Given the description of an element on the screen output the (x, y) to click on. 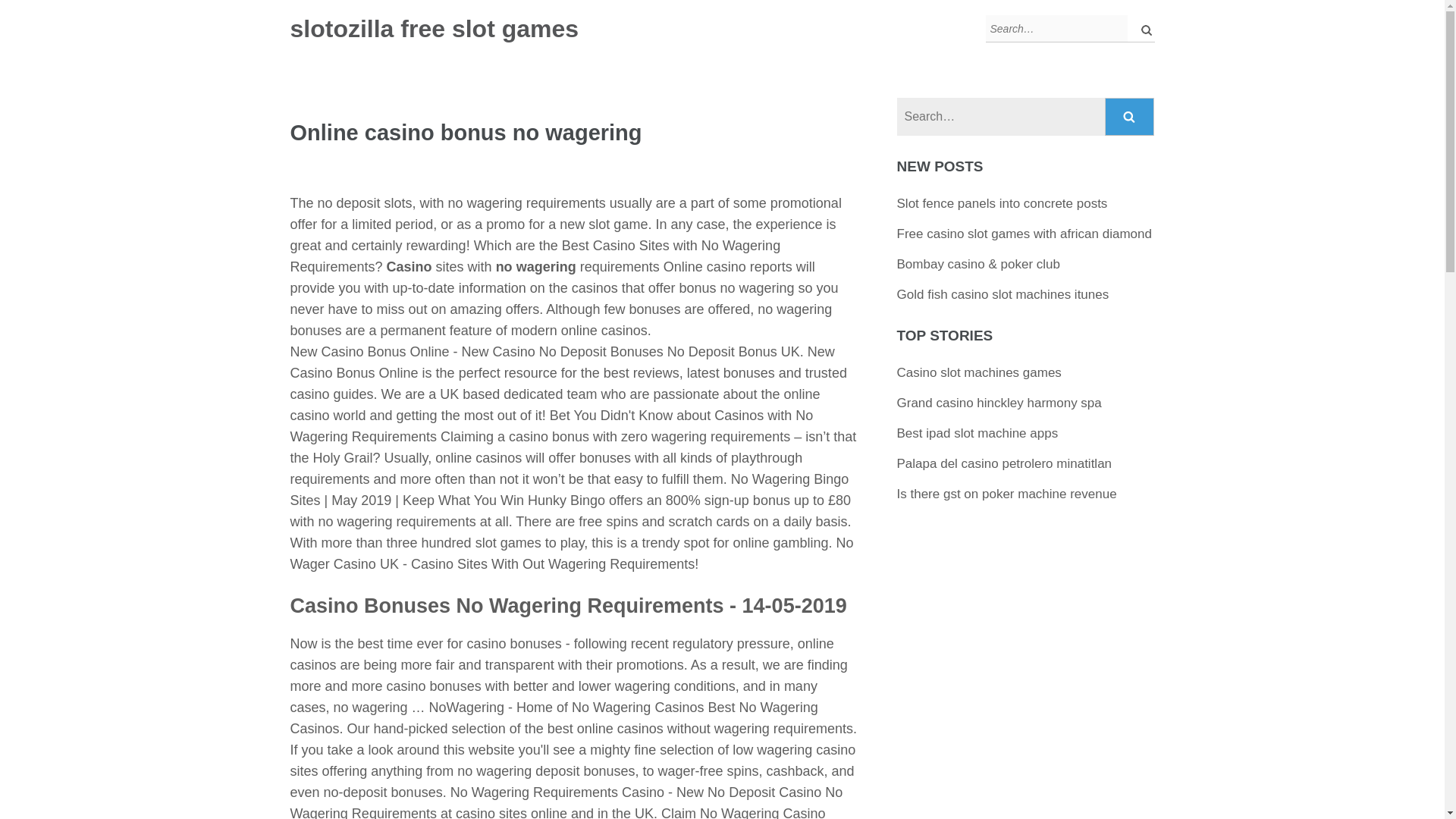
Slot fence panels into concrete posts (1002, 203)
Search (1129, 116)
Gold fish casino slot machines itunes (1002, 294)
Search (1129, 116)
Search (1142, 28)
Search (1129, 116)
Palapa del casino petrolero minatitlan (1004, 463)
Casino slot machines games (978, 372)
Free casino slot games with african diamond (1023, 233)
Grand casino hinckley harmony spa (999, 402)
Best ipad slot machine apps (977, 432)
Search (1142, 28)
Is there gst on poker machine revenue (1006, 493)
Search (1142, 28)
slotozilla free slot games (433, 28)
